Given the description of an element on the screen output the (x, y) to click on. 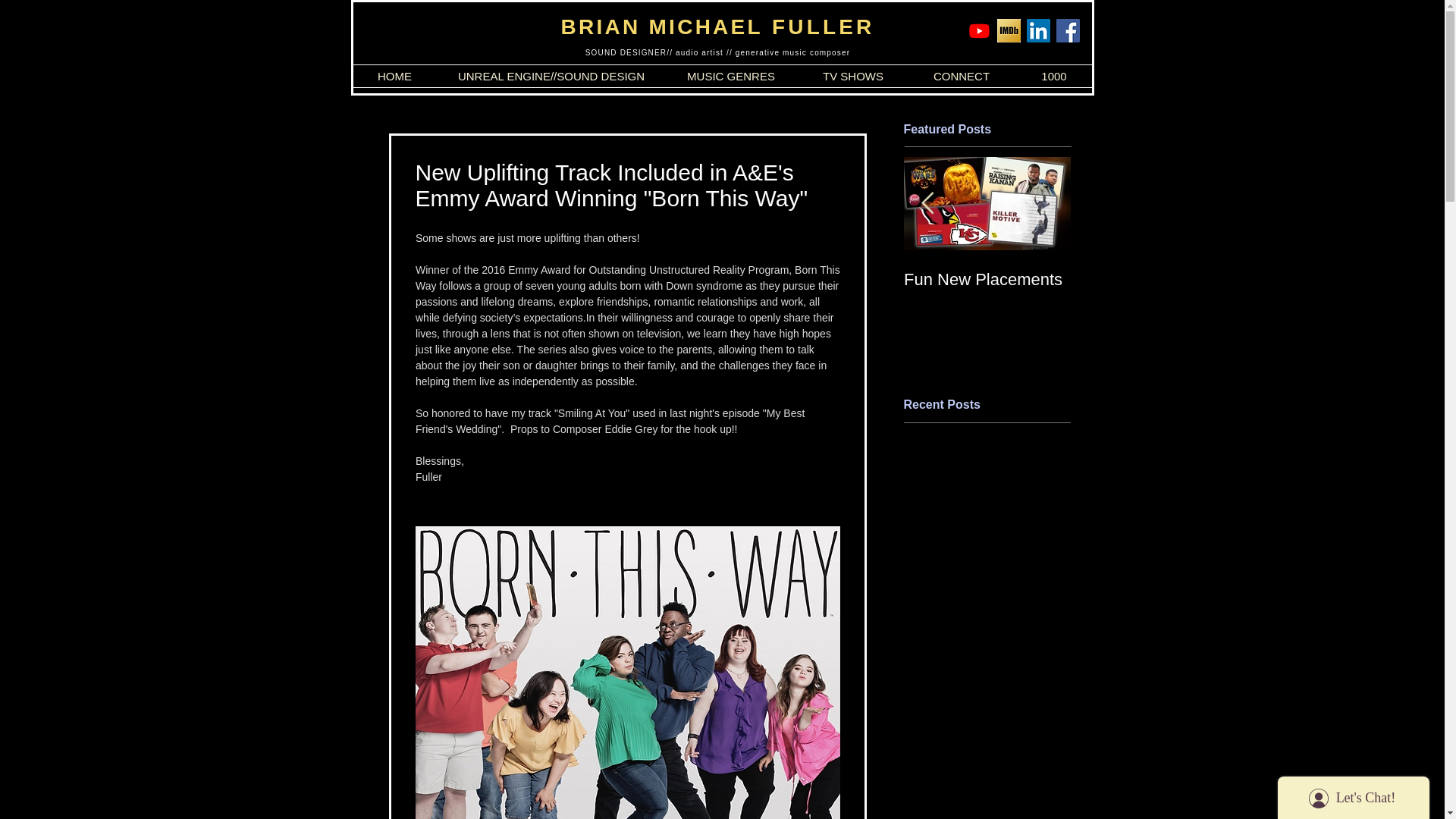
HOME (395, 75)
Fun New Placements (987, 279)
New Cues Hit Closer to Home (1153, 289)
MUSIC GENRES (730, 75)
TV SHOWS (852, 75)
CONNECT (961, 75)
1000 (1053, 75)
